Given the description of an element on the screen output the (x, y) to click on. 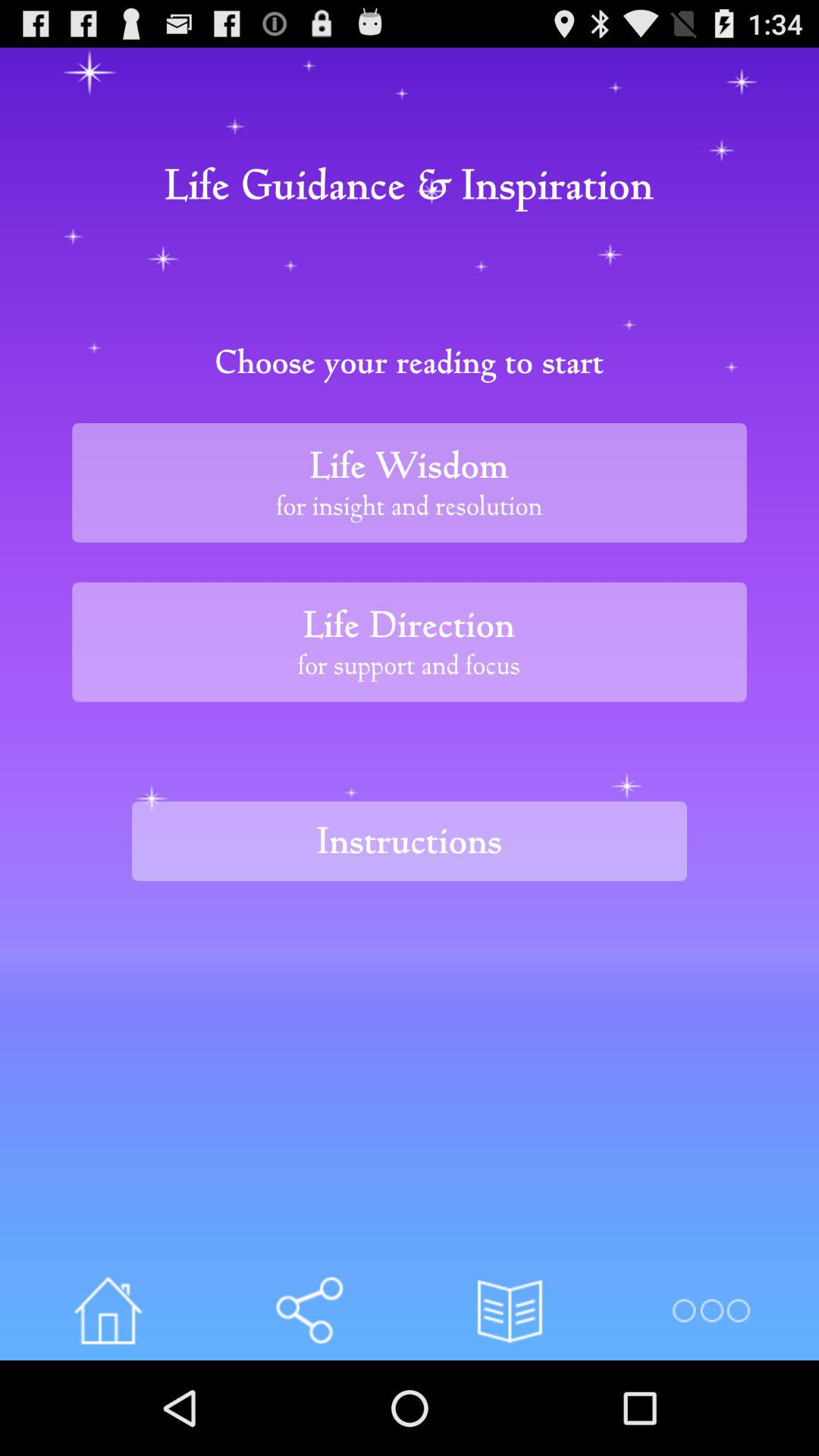
click icon below the for support and (409, 840)
